Given the description of an element on the screen output the (x, y) to click on. 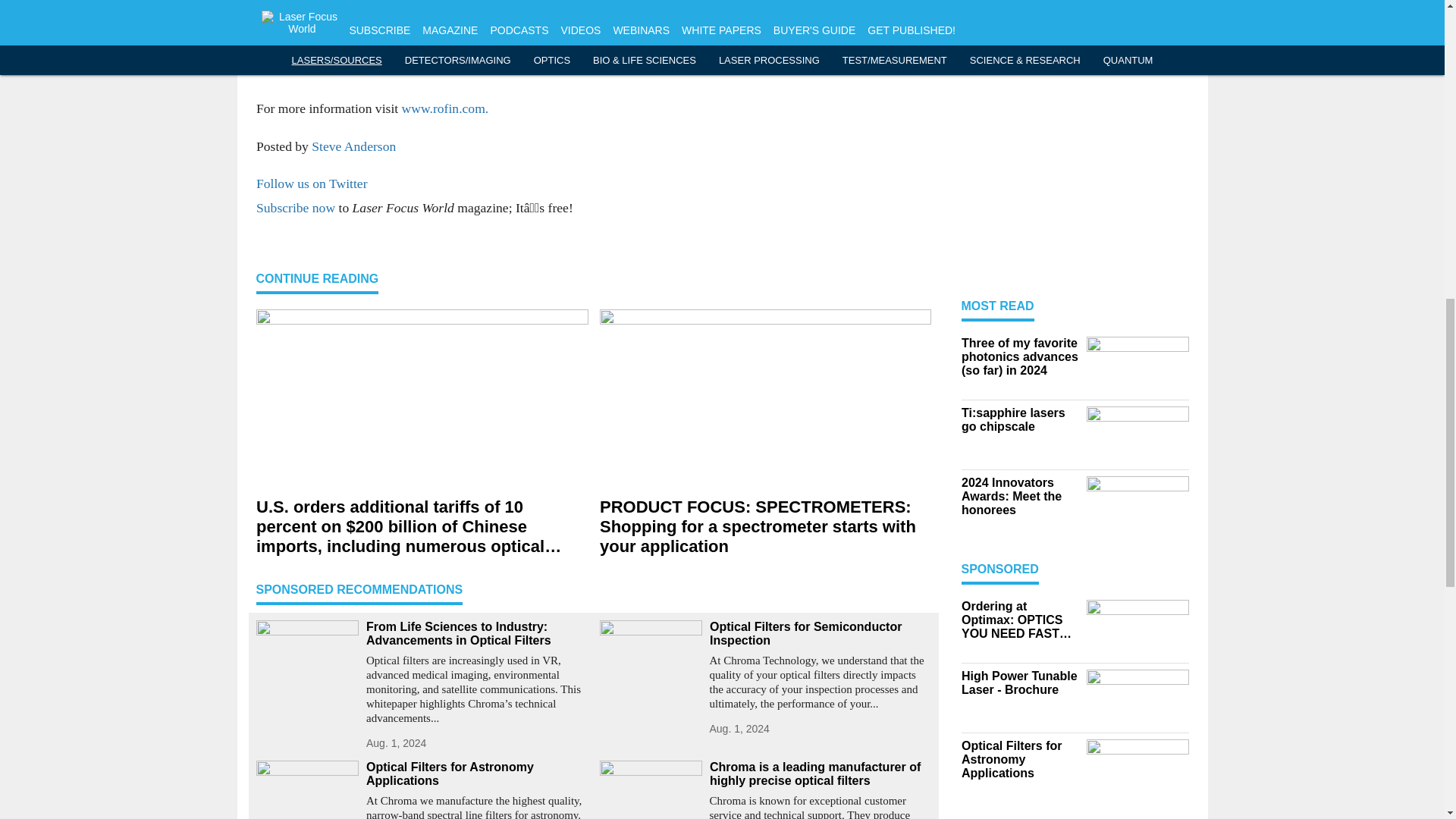
Follow us on Twitter (312, 183)
Optical Filters for Semiconductor Inspection (820, 633)
Steve Anderson (353, 145)
www.rofin.com. (444, 108)
Subscribe now (295, 207)
